Given the description of an element on the screen output the (x, y) to click on. 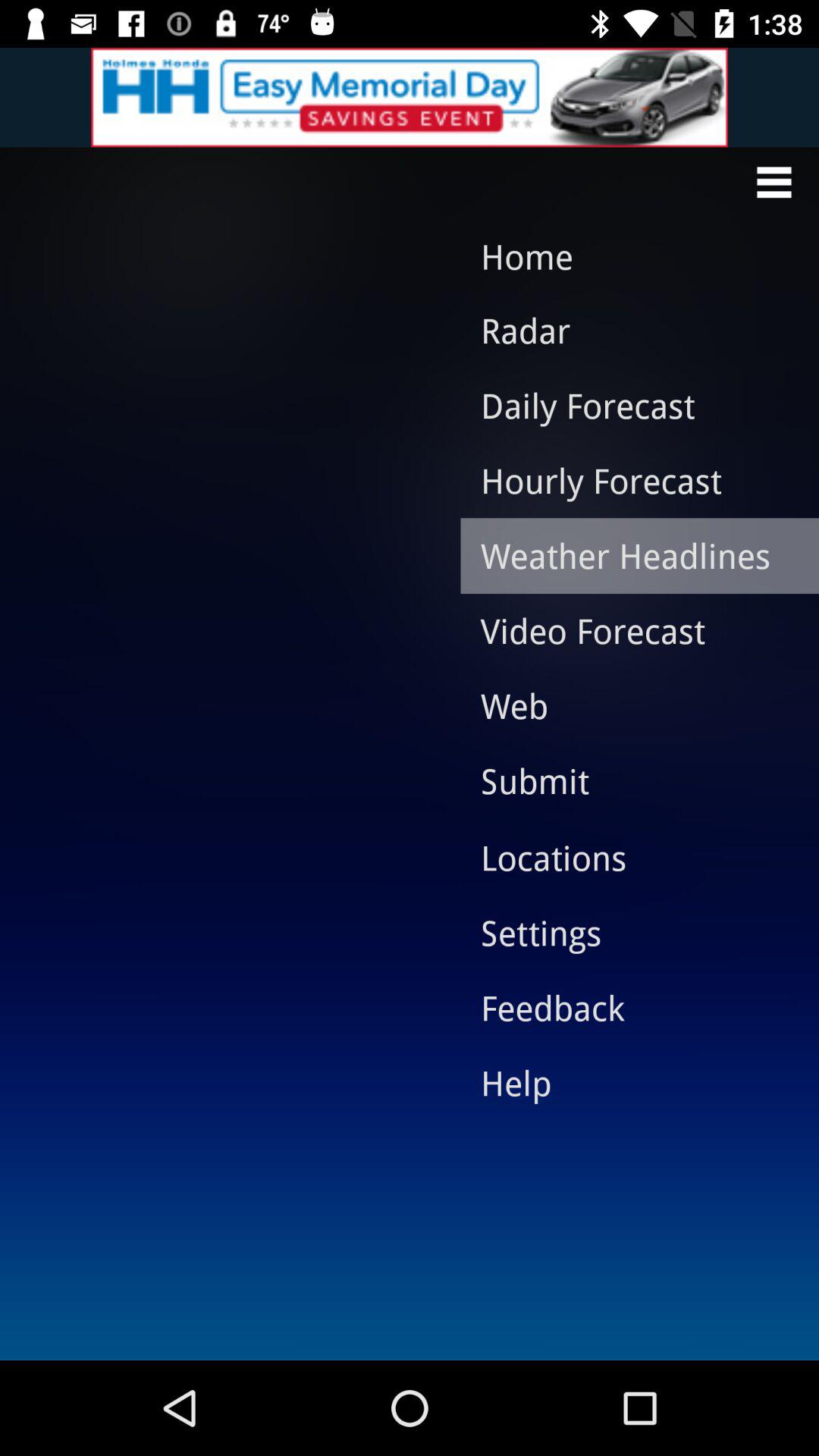
view advertisement (409, 97)
